Given the description of an element on the screen output the (x, y) to click on. 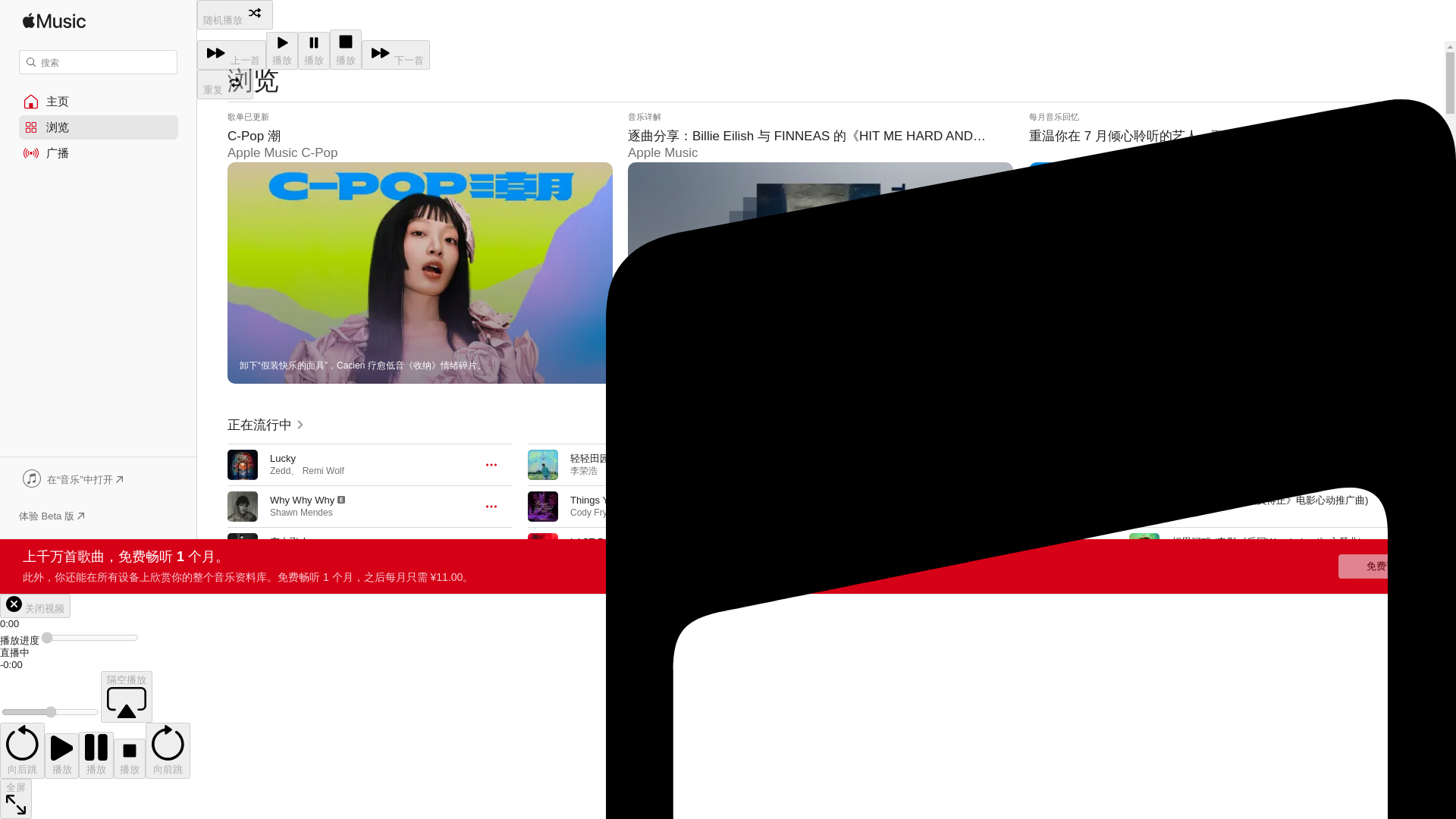
Why Why Why (301, 500)
Remi Wolf (322, 470)
Shawn Mendes (301, 511)
Cry Baby (289, 583)
Zedd (279, 470)
Lucky (282, 458)
